Given the description of an element on the screen output the (x, y) to click on. 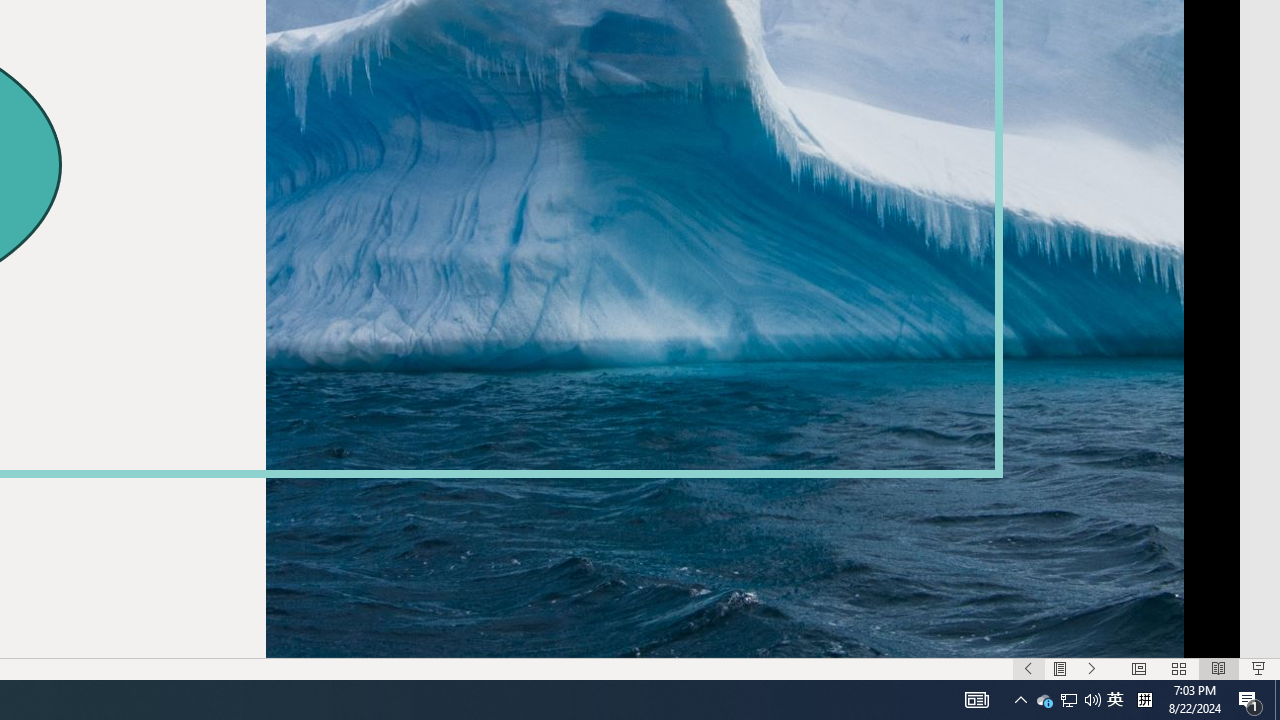
Slide Show Previous On (1028, 668)
Slide Show Next On (1092, 668)
Menu On (1060, 668)
